Given the description of an element on the screen output the (x, y) to click on. 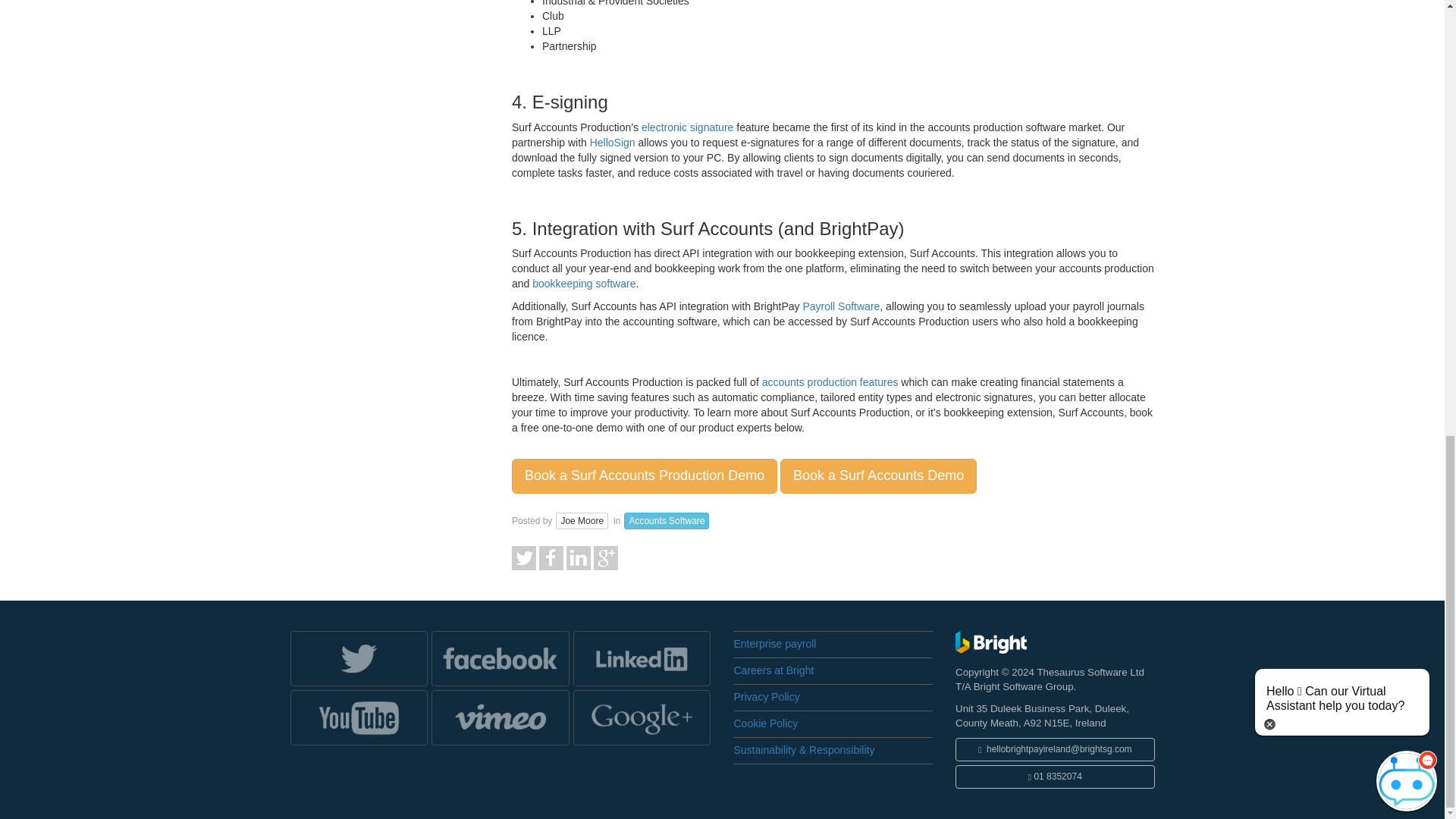
Share on Facebook (552, 556)
Share on Twitter (525, 556)
Share on LinkedIn (580, 556)
